Given the description of an element on the screen output the (x, y) to click on. 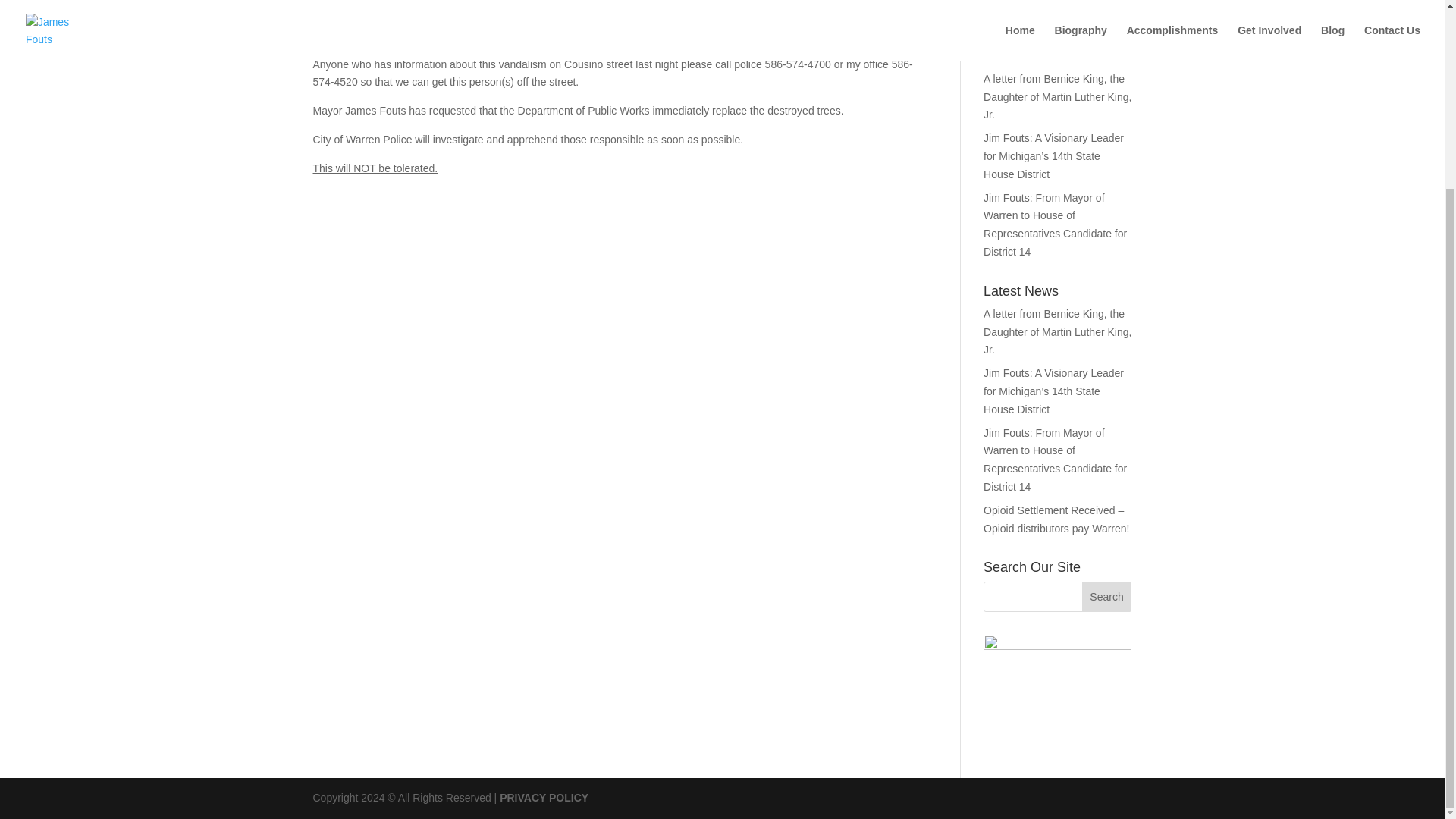
PRIVACY POLICY (543, 797)
Search (1106, 596)
Search (1106, 596)
Contact Us (1009, 16)
